Given the description of an element on the screen output the (x, y) to click on. 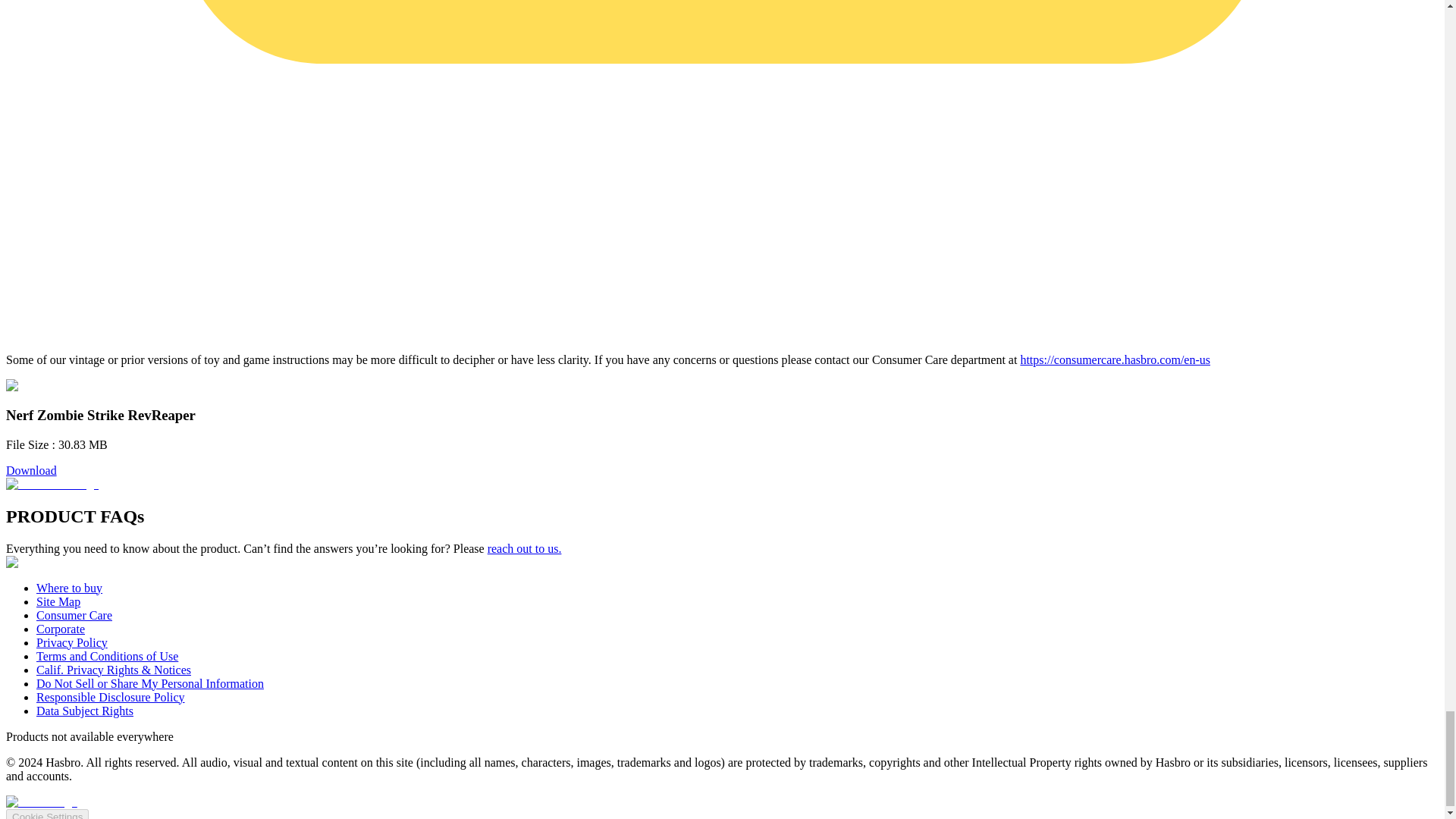
Corporate (60, 628)
Site Map (58, 601)
Data Subject Rights (84, 710)
Terms and Conditions of Use (106, 656)
Where to buy (68, 587)
Consumer Care (74, 615)
Privacy Policy (71, 642)
reach out to us. (524, 548)
Do Not Sell or Share My Personal Information (149, 683)
Responsible Disclosure Policy (110, 697)
